Given the description of an element on the screen output the (x, y) to click on. 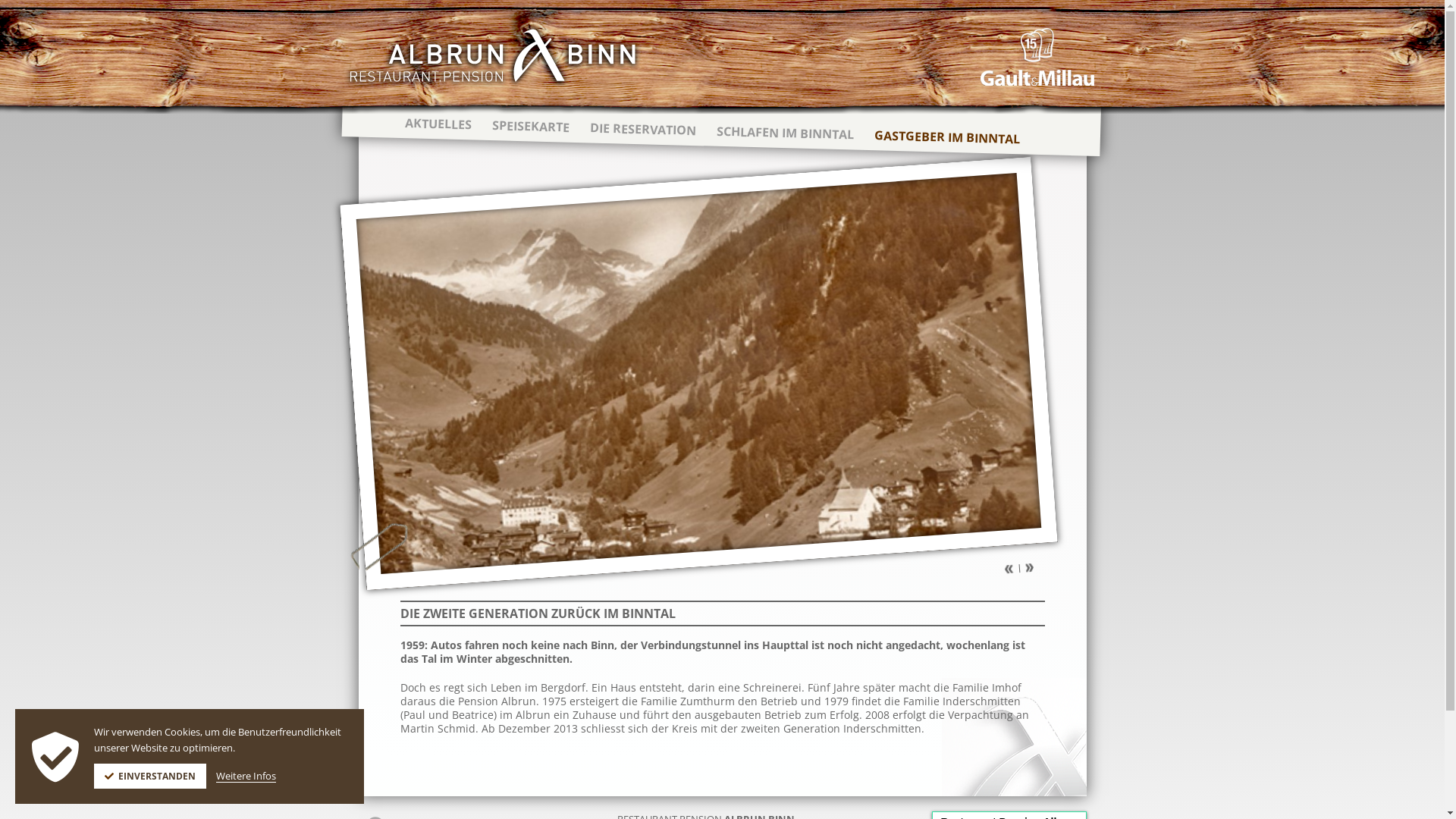
GASTGEBER IM BINNTAL Element type: text (945, 136)
DIE RESERVATION Element type: text (641, 128)
Next Element type: text (1029, 567)
AKTUELLES Element type: text (437, 124)
Prev Element type: text (1008, 568)
SCHLAFEN IM BINNTAL Element type: text (783, 132)
SPEISEKARTE Element type: text (529, 126)
Albrun Binn Element type: hover (491, 55)
EINVERSTANDEN Element type: text (150, 775)
Weitere Infos Element type: text (246, 776)
